Given the description of an element on the screen output the (x, y) to click on. 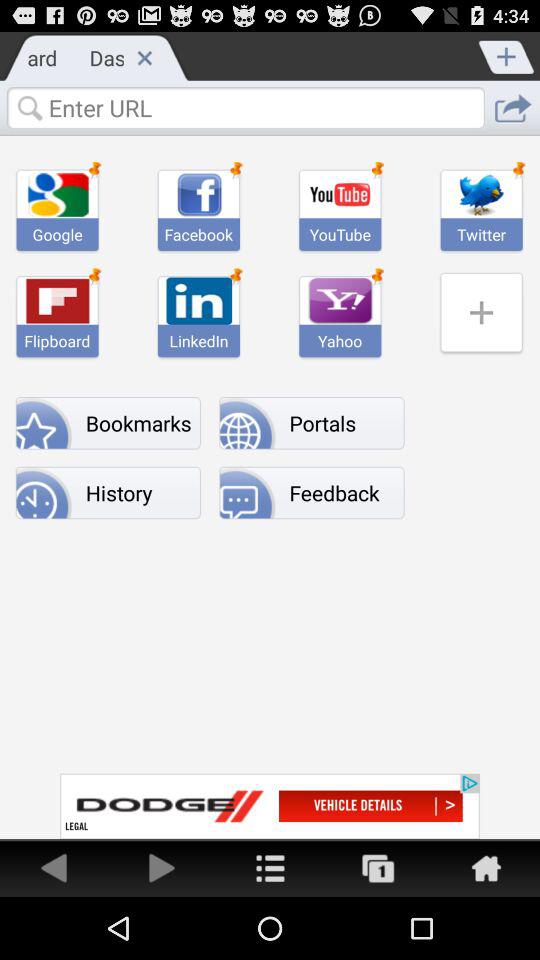
visit the advertisement site (270, 806)
